Given the description of an element on the screen output the (x, y) to click on. 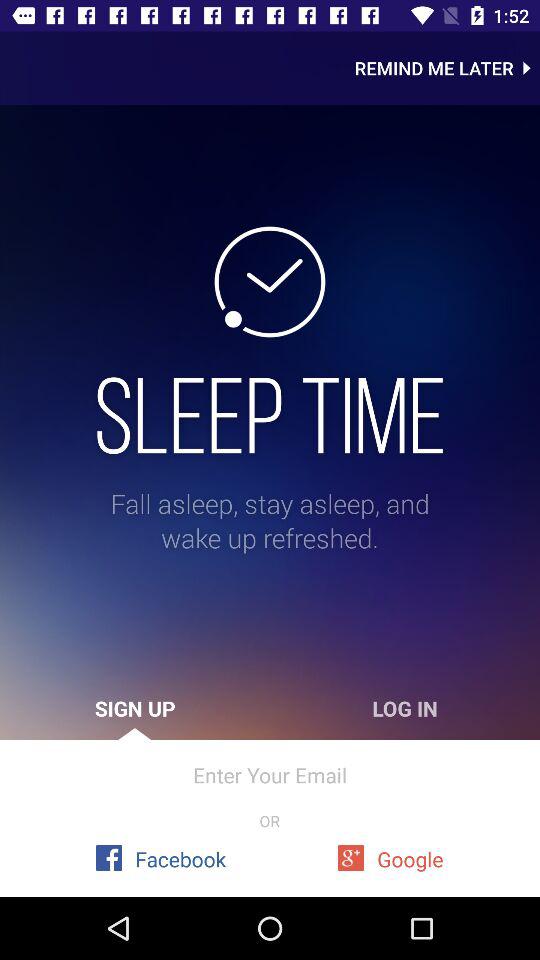
turn off icon to the left of the log in (135, 707)
